Given the description of an element on the screen output the (x, y) to click on. 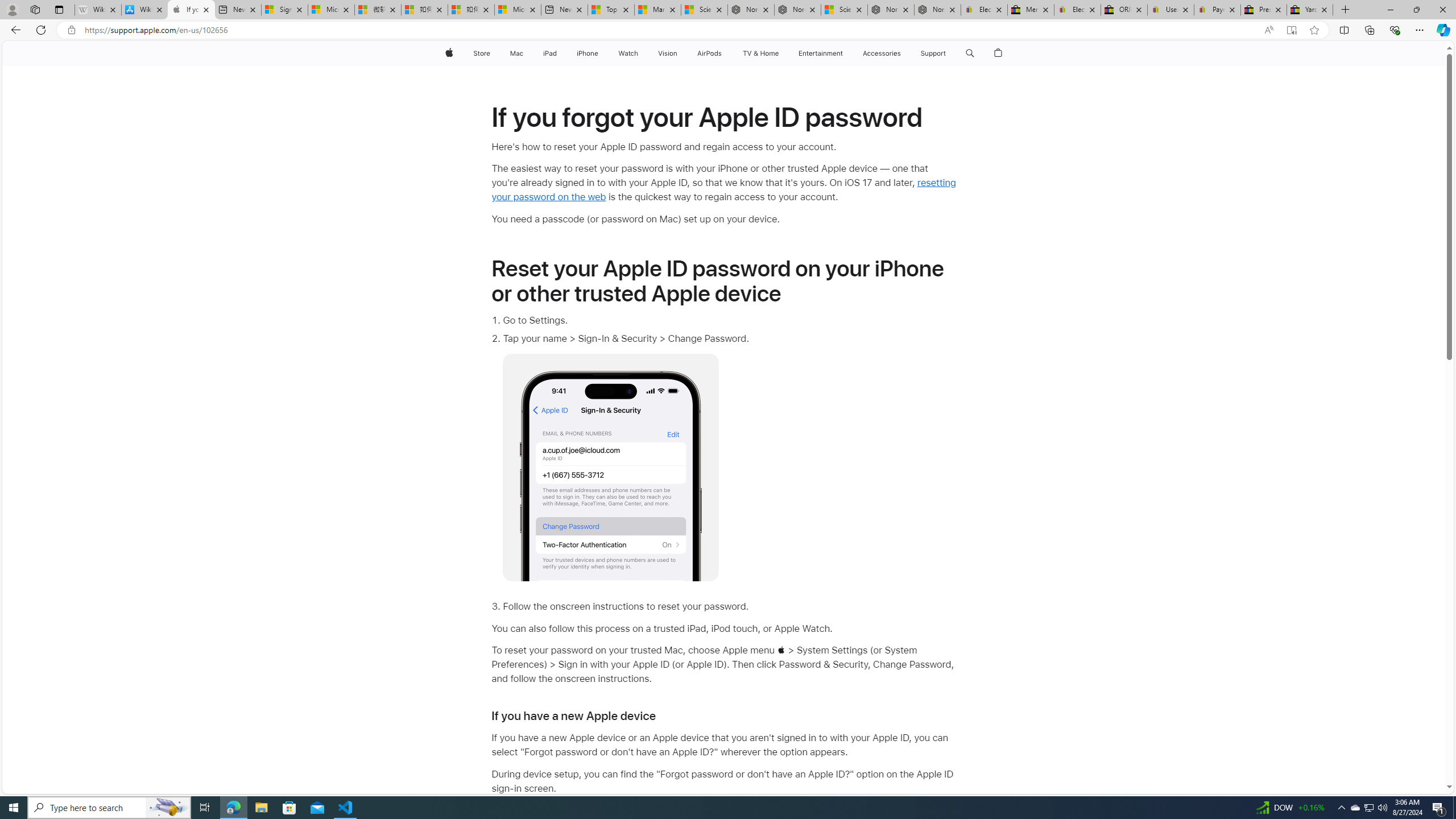
Mac menu (524, 53)
Shopping Bag (998, 53)
Mac (516, 53)
resetting your password on the web (724, 189)
AirPods menu (723, 53)
Entertainment menu (844, 53)
AirPods (709, 53)
Vision (667, 53)
Accessories (881, 53)
